Given the description of an element on the screen output the (x, y) to click on. 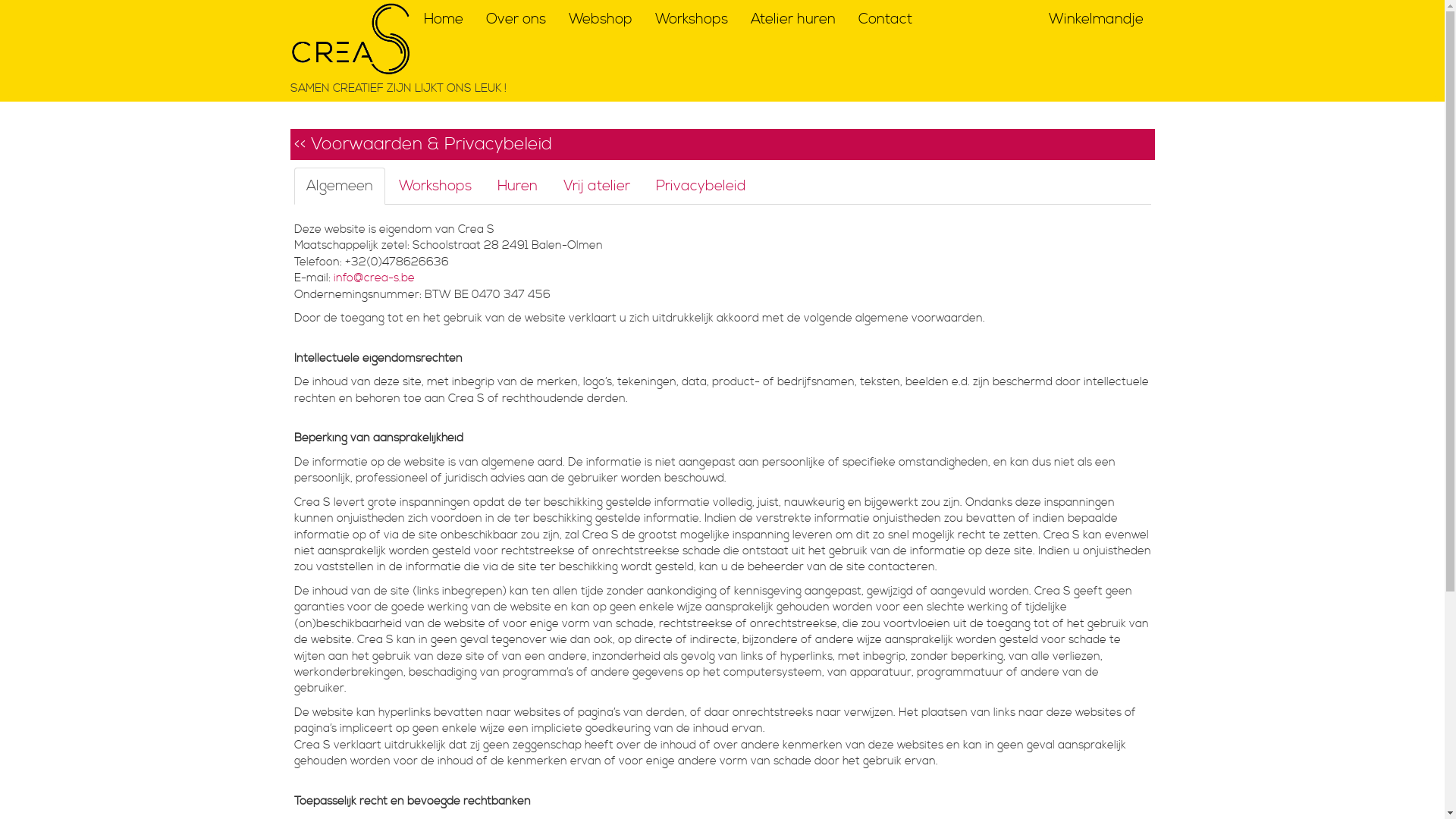
Home Element type: text (443, 19)
Webshop Element type: text (599, 19)
Workshops Element type: text (690, 19)
Atelier huren Element type: text (792, 19)
Winkelmandje Element type: text (1095, 19)
Contact Element type: text (884, 19)
Workshops Element type: text (434, 185)
<< Element type: text (300, 144)
Over ons Element type: text (515, 19)
Privacybeleid Element type: text (700, 185)
Algemeen Element type: text (339, 185)
Huren Element type: text (517, 185)
Vrij atelier Element type: text (595, 185)
info@crea-s.be Element type: text (373, 277)
